Given the description of an element on the screen output the (x, y) to click on. 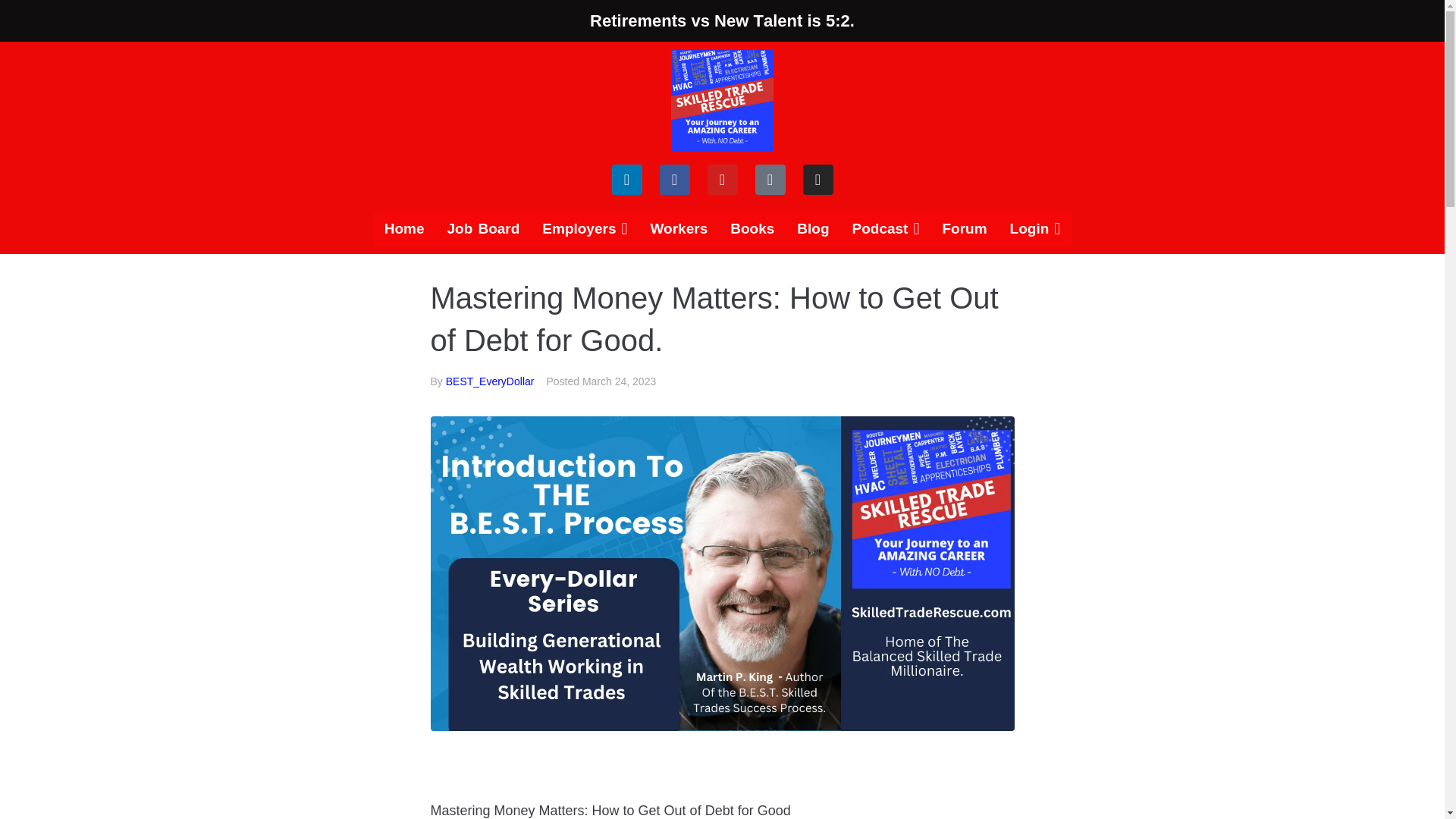
Podcast (885, 228)
Home (403, 228)
Workers (679, 228)
Blog (813, 228)
Employers (585, 228)
Job Board (483, 228)
Login (1034, 228)
Books (752, 228)
Forum (963, 228)
